Given the description of an element on the screen output the (x, y) to click on. 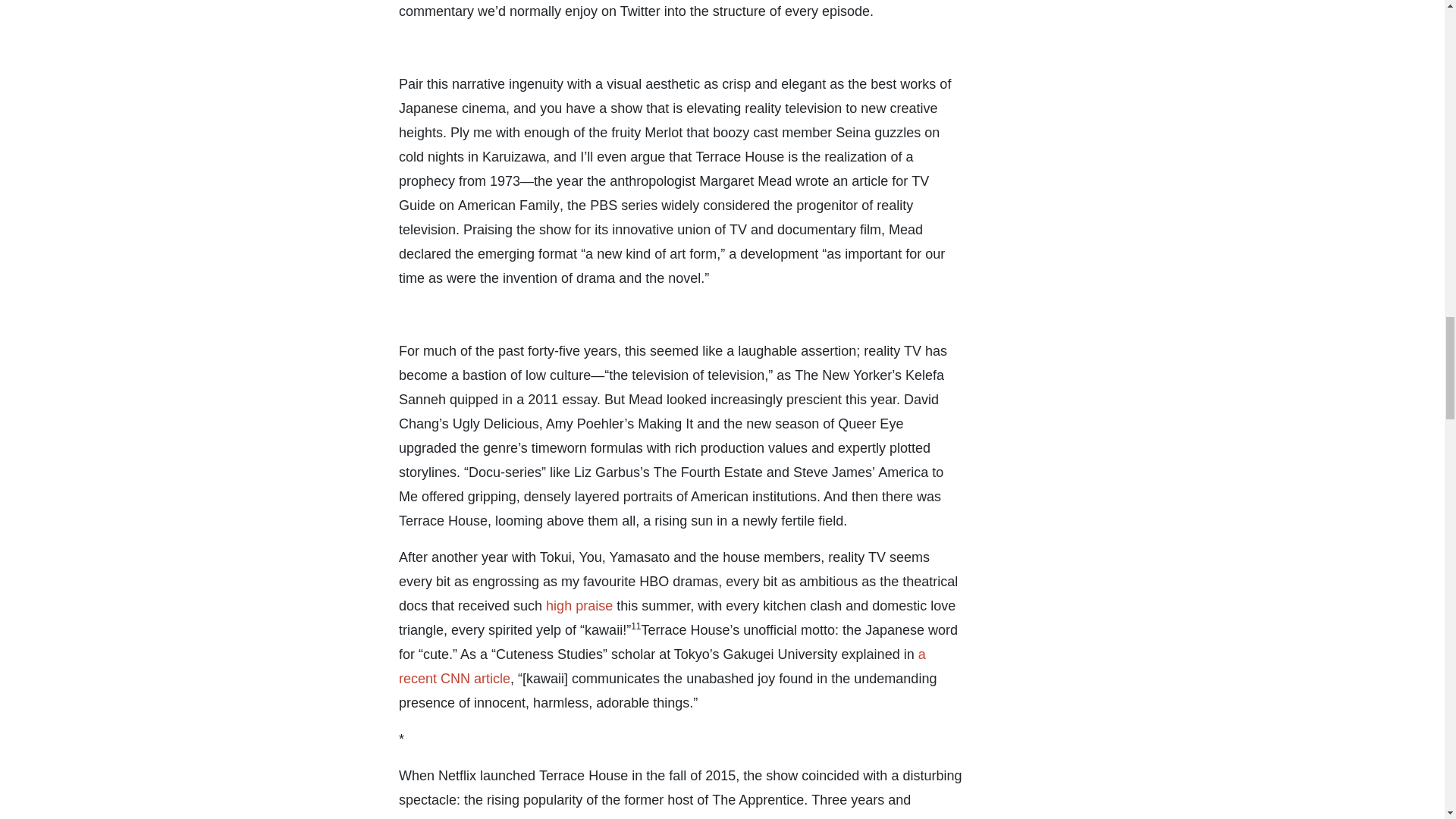
a recent CNN article (662, 666)
high praise (579, 605)
